Given the description of an element on the screen output the (x, y) to click on. 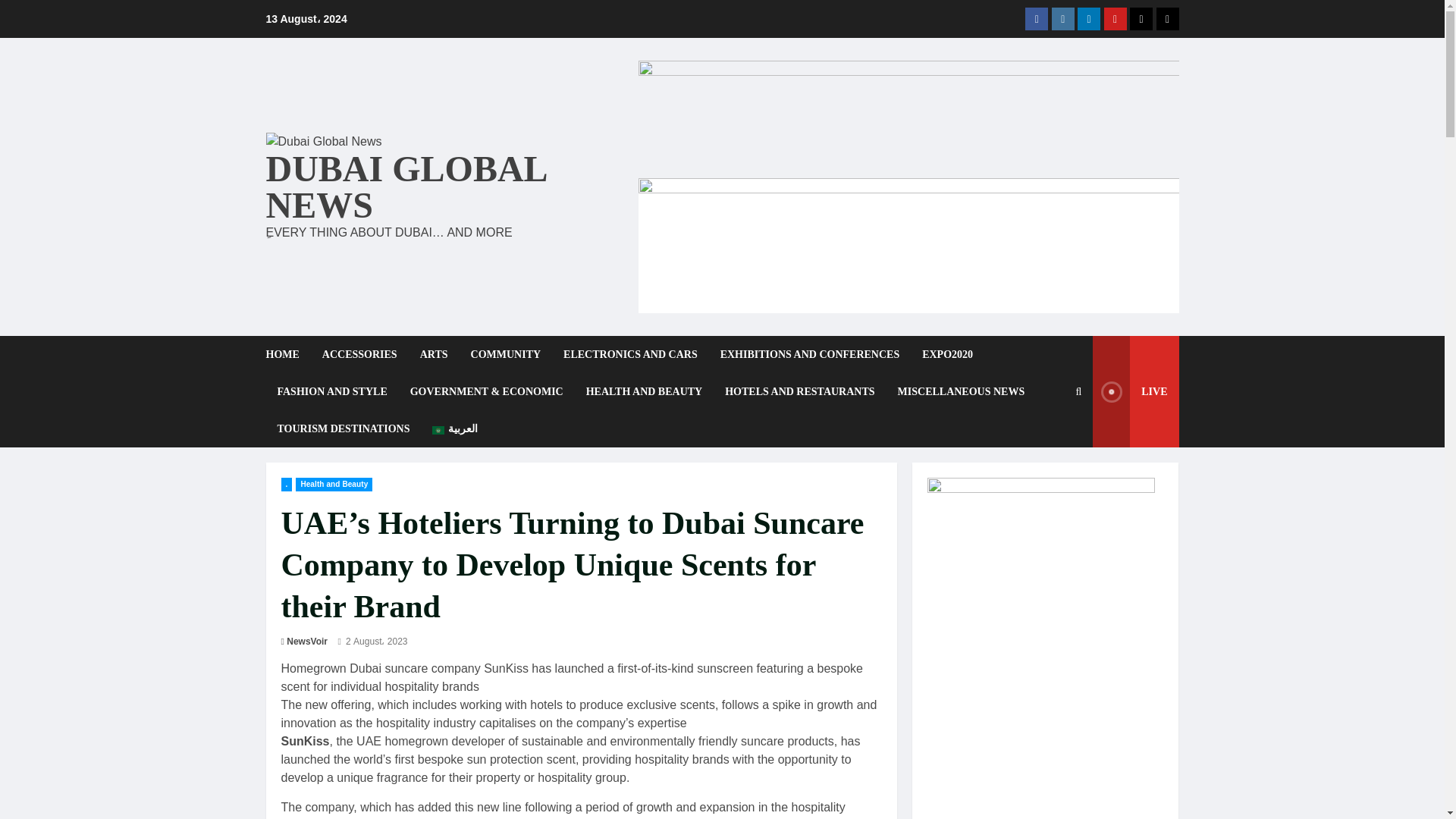
COMMUNITY (506, 354)
whatsapp (1166, 18)
LinkedIn (1088, 18)
Search (1042, 495)
ELECTRONICS AND CARS (630, 354)
FASHION AND STYLE (330, 391)
EXPO2020 (947, 354)
Facebook (1036, 18)
HOTELS AND RESTAURANTS (799, 391)
Instagram (1062, 18)
